Given the description of an element on the screen output the (x, y) to click on. 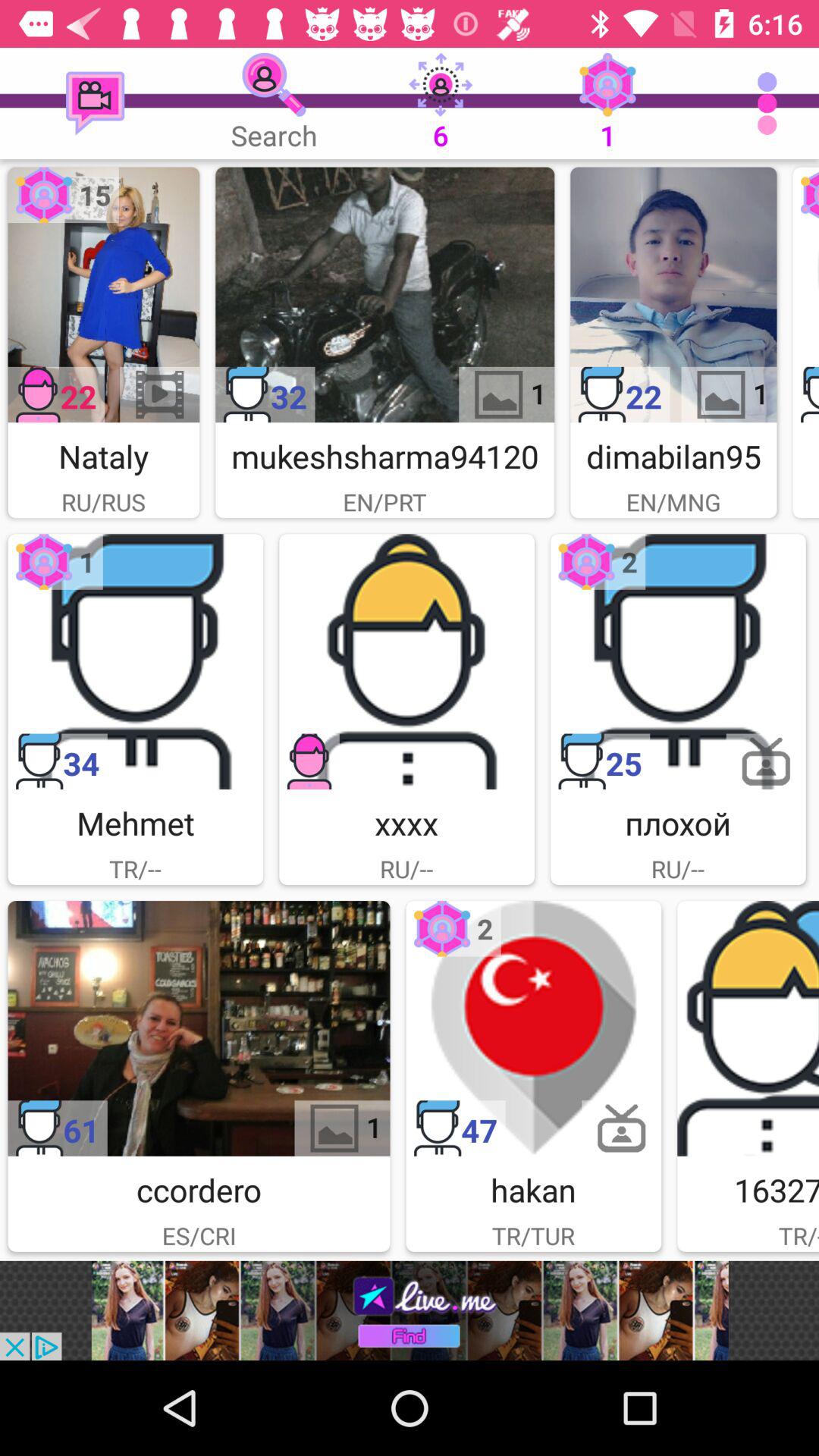
open advertisement (409, 1310)
